Given the description of an element on the screen output the (x, y) to click on. 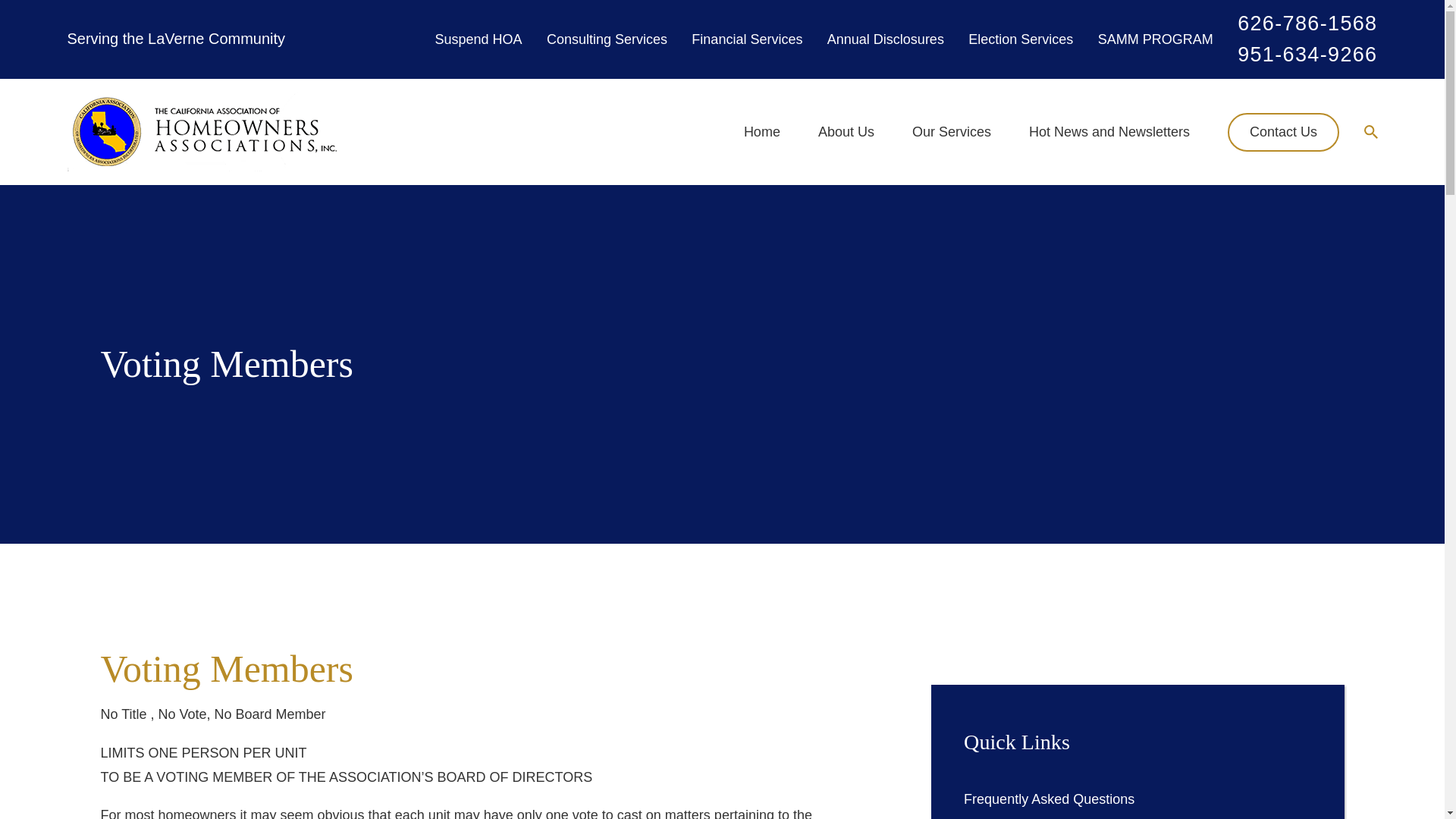
Annual Disclosures (885, 38)
Home (202, 131)
Consulting Services (606, 38)
Suspend HOA (477, 38)
Financial Services (746, 38)
626-786-1568 (1307, 23)
Hot News and Newsletters (1109, 131)
SAMM PROGRAM (1154, 38)
Election Services (1020, 38)
951-634-9266 (1307, 55)
